Given the description of an element on the screen output the (x, y) to click on. 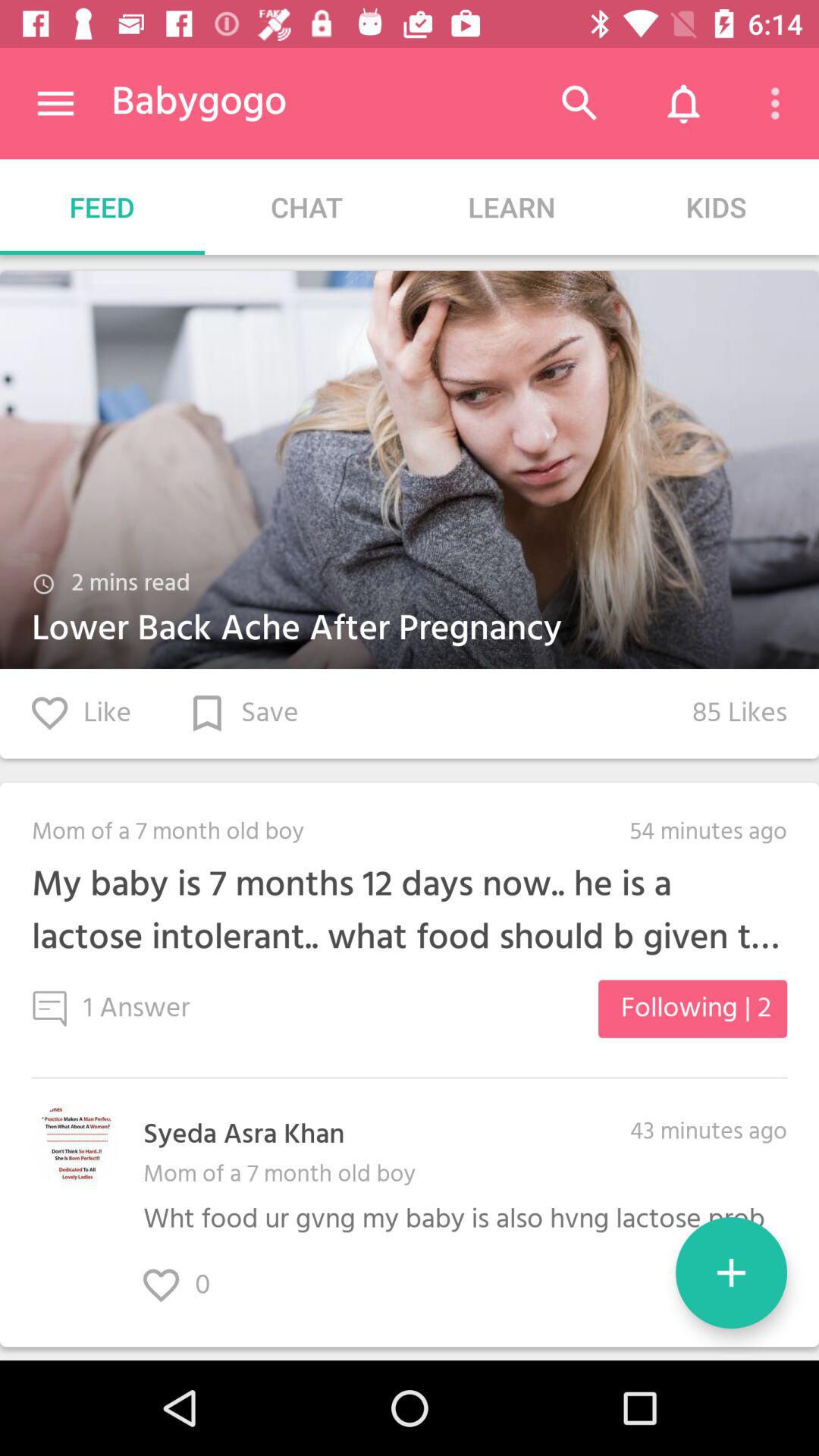
jump until the 0 icon (192, 1285)
